Given the description of an element on the screen output the (x, y) to click on. 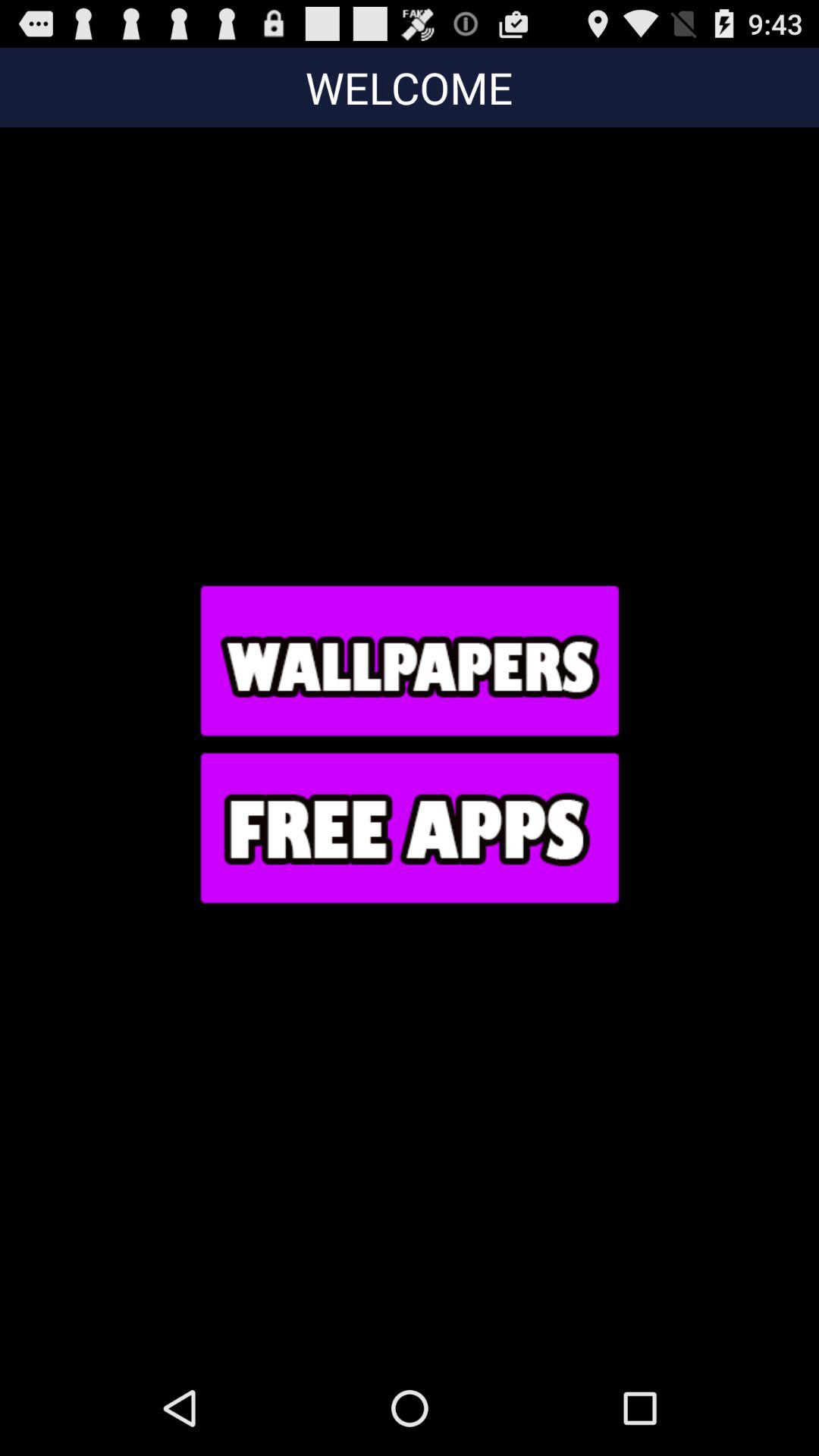
select free apps (408, 827)
